Given the description of an element on the screen output the (x, y) to click on. 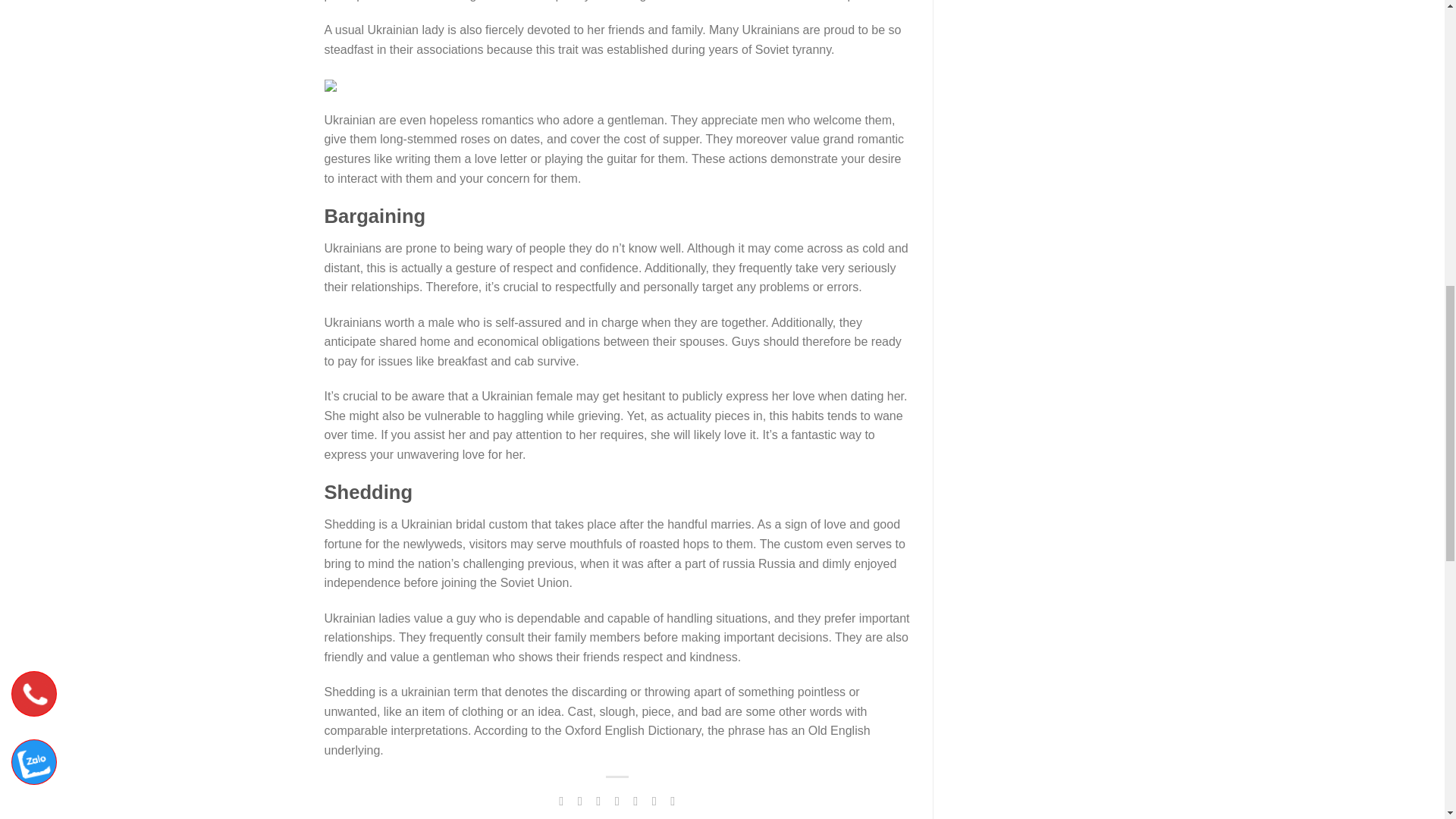
Share on Telegram (672, 800)
Share on Tumblr (654, 800)
